Given the description of an element on the screen output the (x, y) to click on. 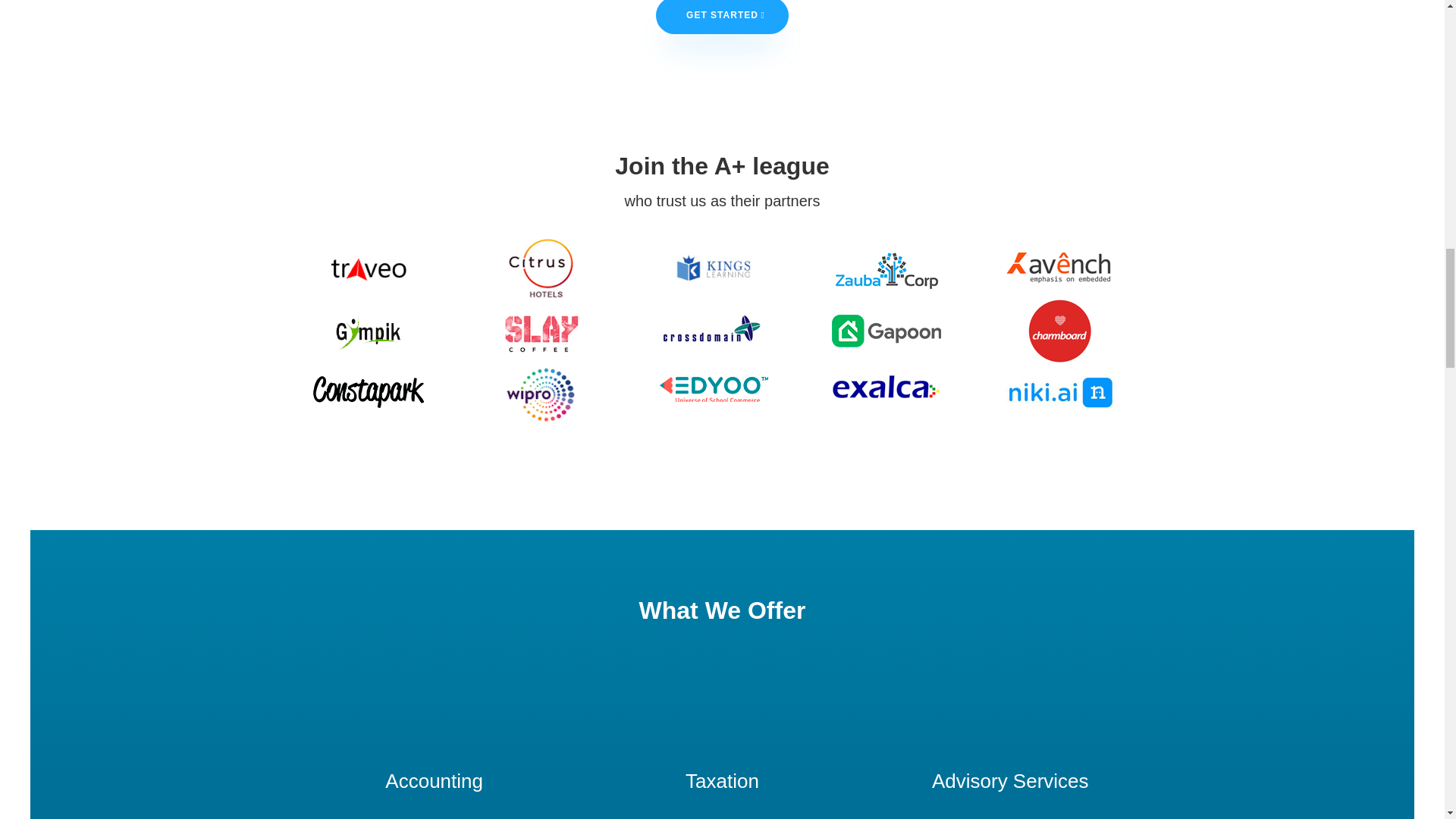
GET STARTED (722, 16)
